Given the description of an element on the screen output the (x, y) to click on. 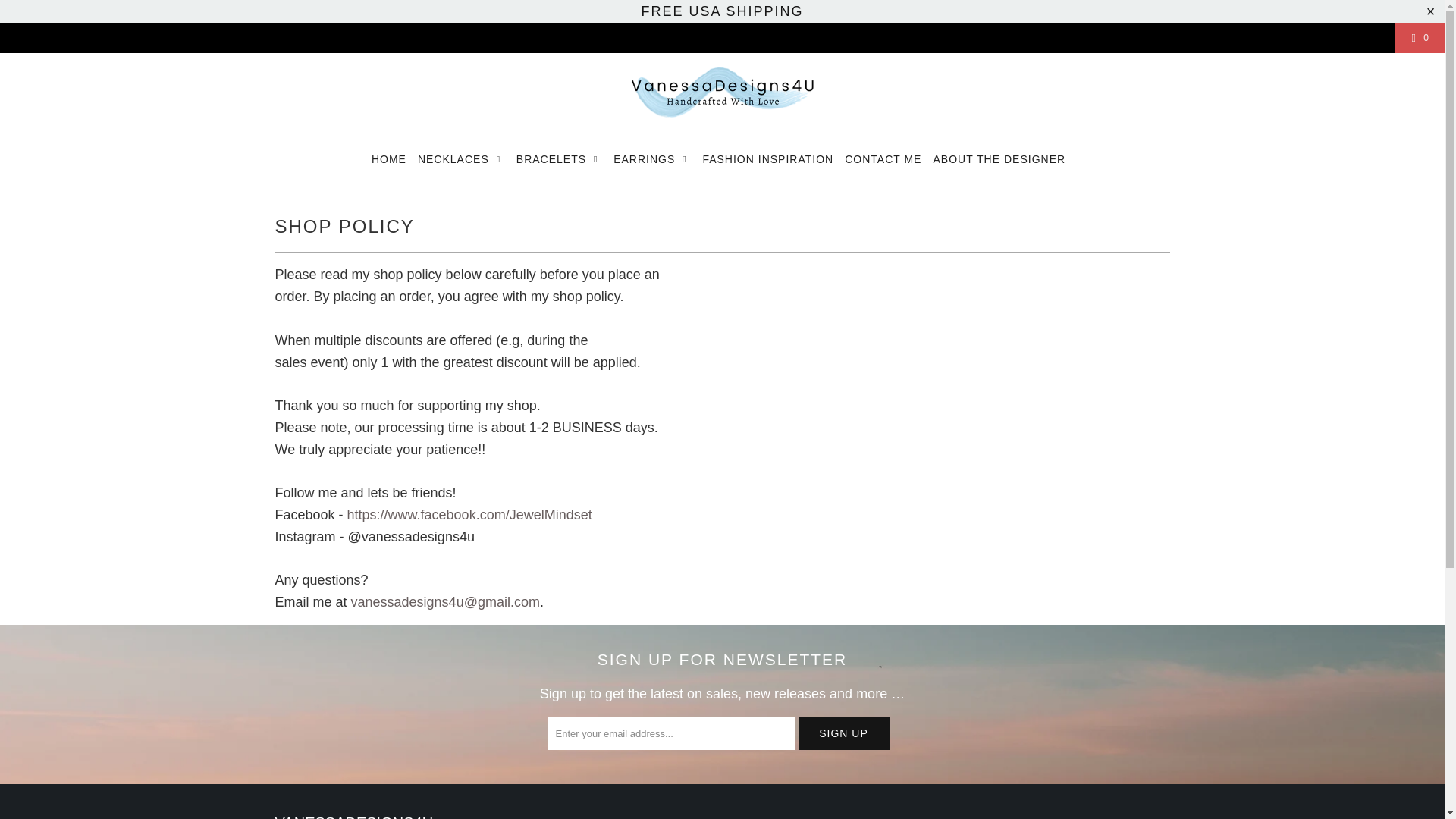
EARRINGS (651, 159)
Sign Up (842, 733)
HOME (388, 159)
CONTACT ME (882, 159)
NECKLACES (461, 159)
ABOUT THE DESIGNER (999, 159)
BRACELETS (559, 159)
FASHION INSPIRATION (766, 159)
